Given the description of an element on the screen output the (x, y) to click on. 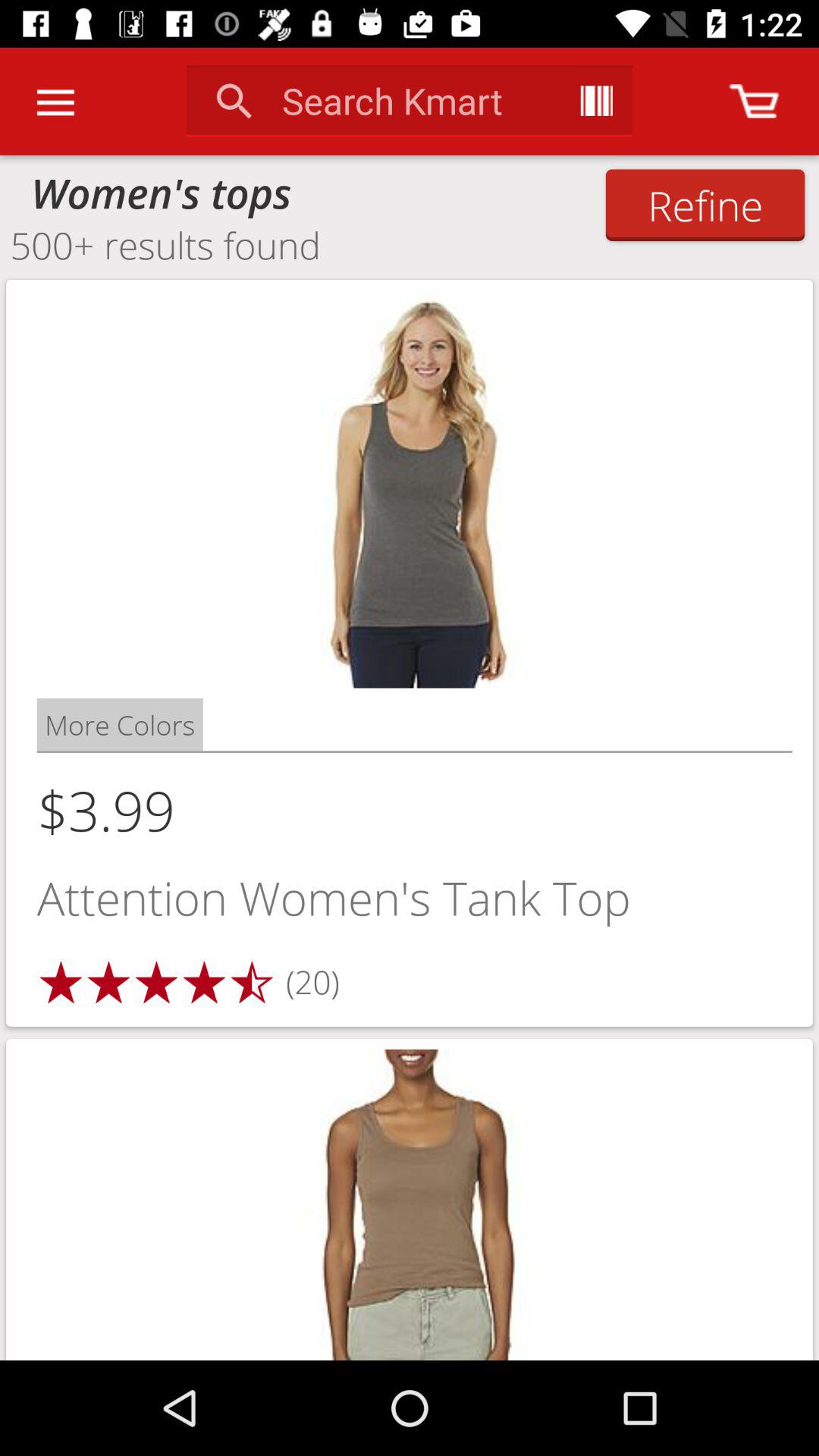
turn on the icon above the refine item (754, 101)
